Given the description of an element on the screen output the (x, y) to click on. 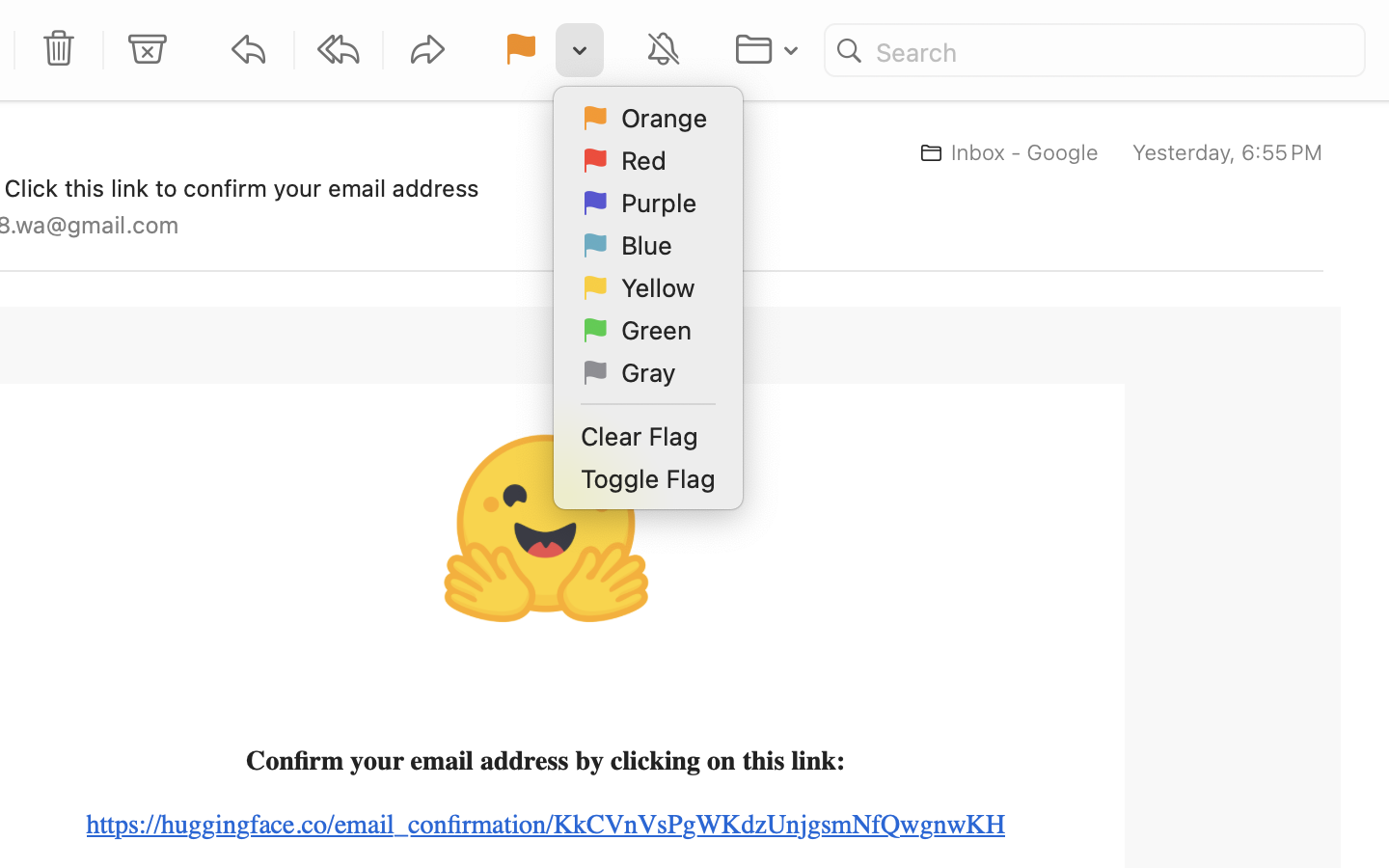
￼Inbox - Google Element type: AXStaticText (1002, 151)
Confirm your email address by clicking on this link: Element type: AXStaticText (545, 760)
Yesterday, 6:55 PM Element type: AXStaticText (1227, 151)
https://huggingface.co/email_confirmation/KkCVnVsPgWKdzUnjgsmNfQwgnwKH Element type: AXStaticText (545, 824)
